Given the description of an element on the screen output the (x, y) to click on. 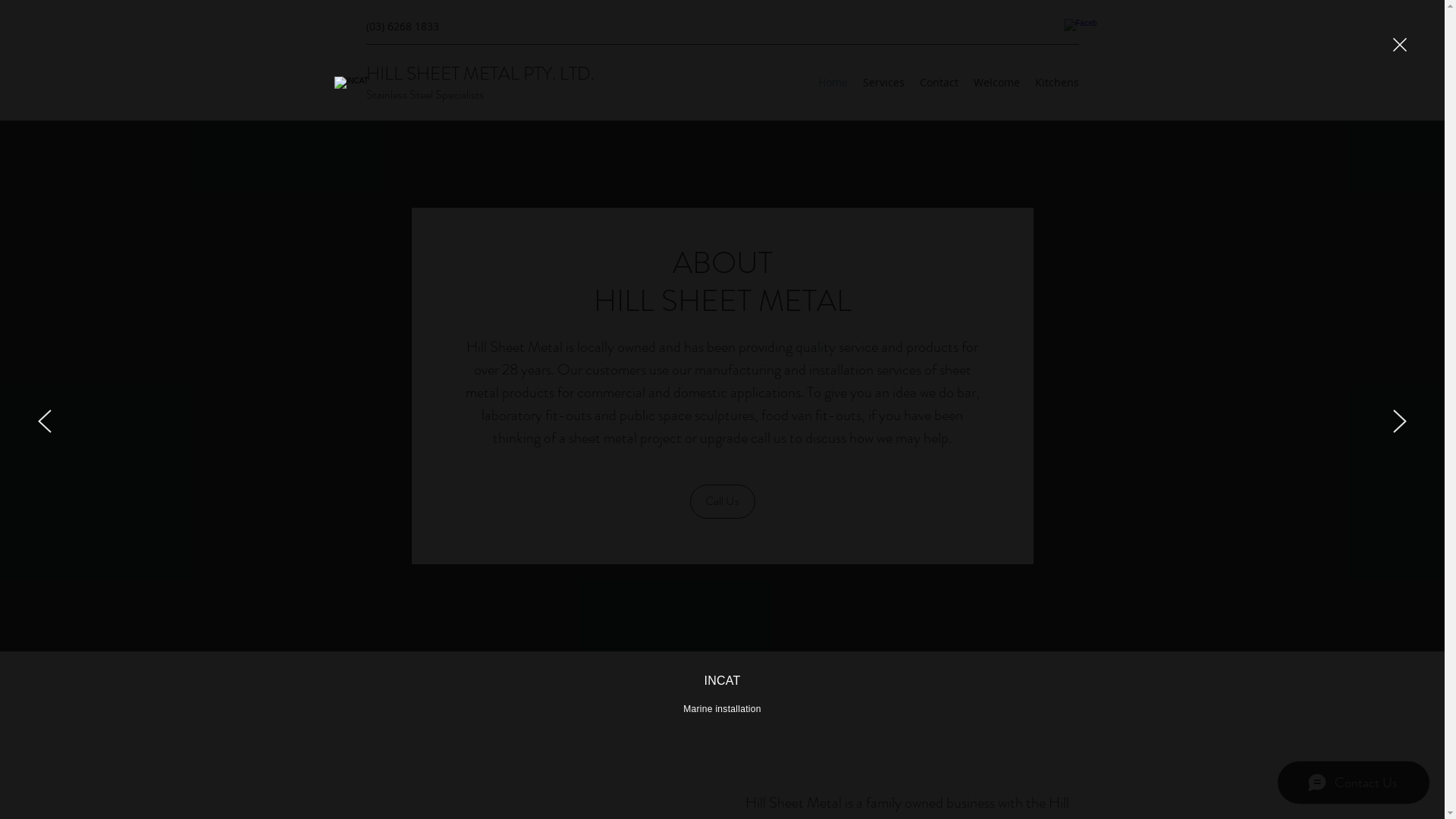
Contact Element type: text (938, 82)
Services Element type: text (883, 82)
Call Us Element type: text (722, 501)
Kitchens Element type: text (1055, 82)
Home Element type: text (831, 82)
Welcome Element type: text (996, 82)
